Given the description of an element on the screen output the (x, y) to click on. 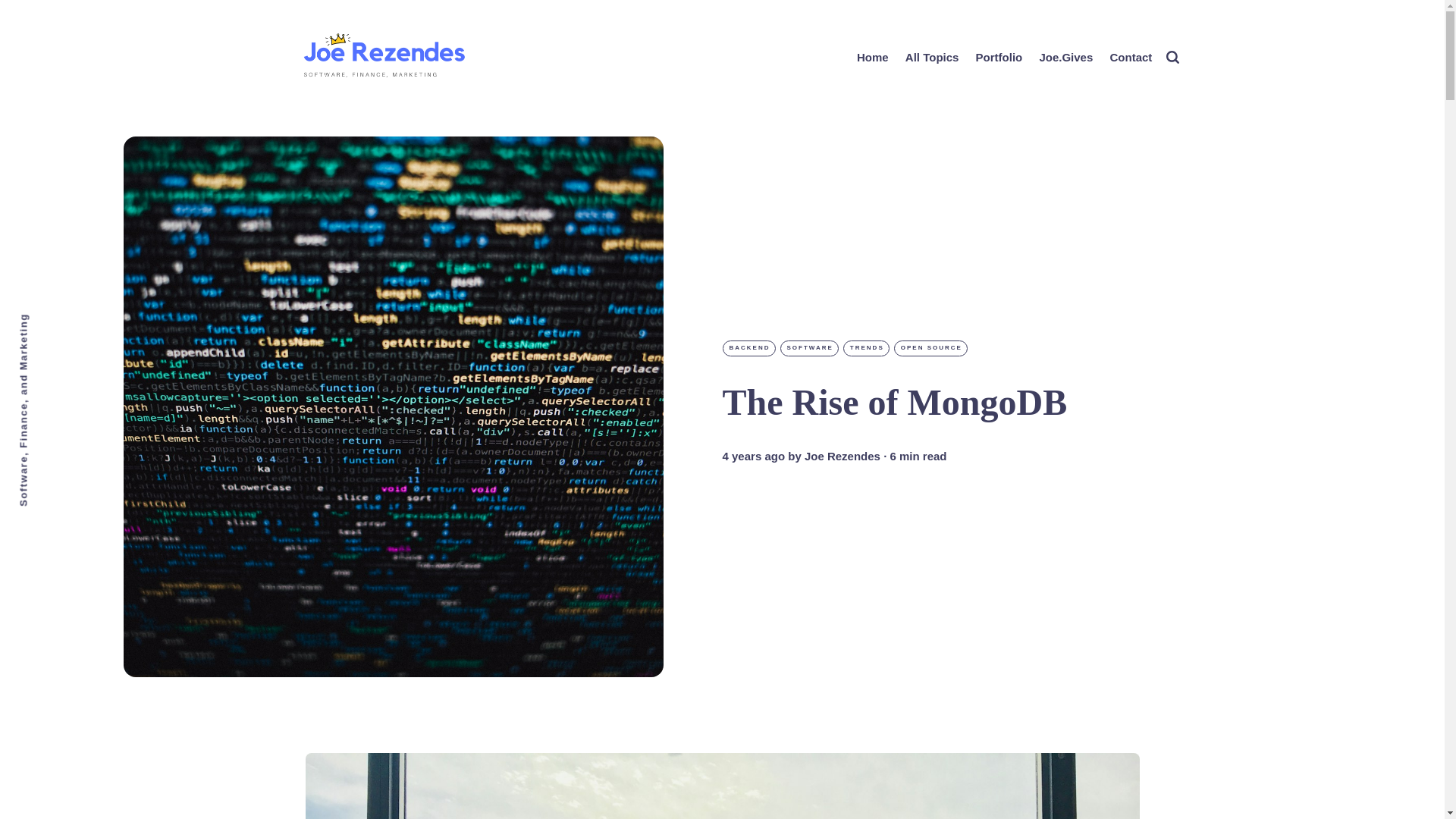
BACKEND (748, 347)
SOFTWARE (808, 347)
Contact (1130, 56)
All Topics (932, 56)
Joe.Gives (1065, 56)
TRENDS (866, 347)
Portfolio (999, 56)
Home (872, 56)
OPEN SOURCE (930, 347)
Joe Rezendes (842, 456)
